Given the description of an element on the screen output the (x, y) to click on. 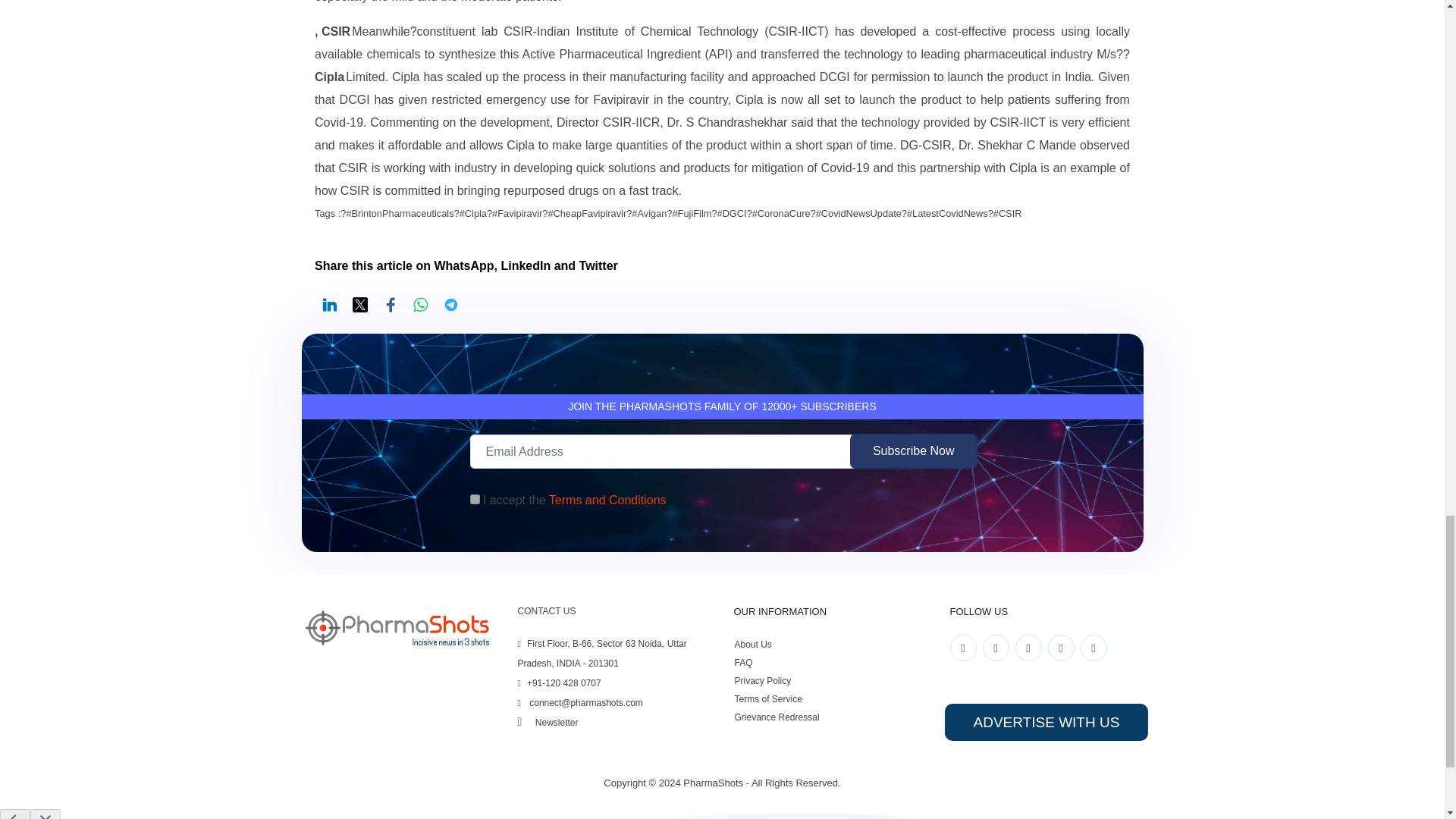
on (475, 499)
Subscribe Now (913, 451)
Advertise with us (1046, 722)
Terms and Conditions (607, 499)
